Given the description of an element on the screen output the (x, y) to click on. 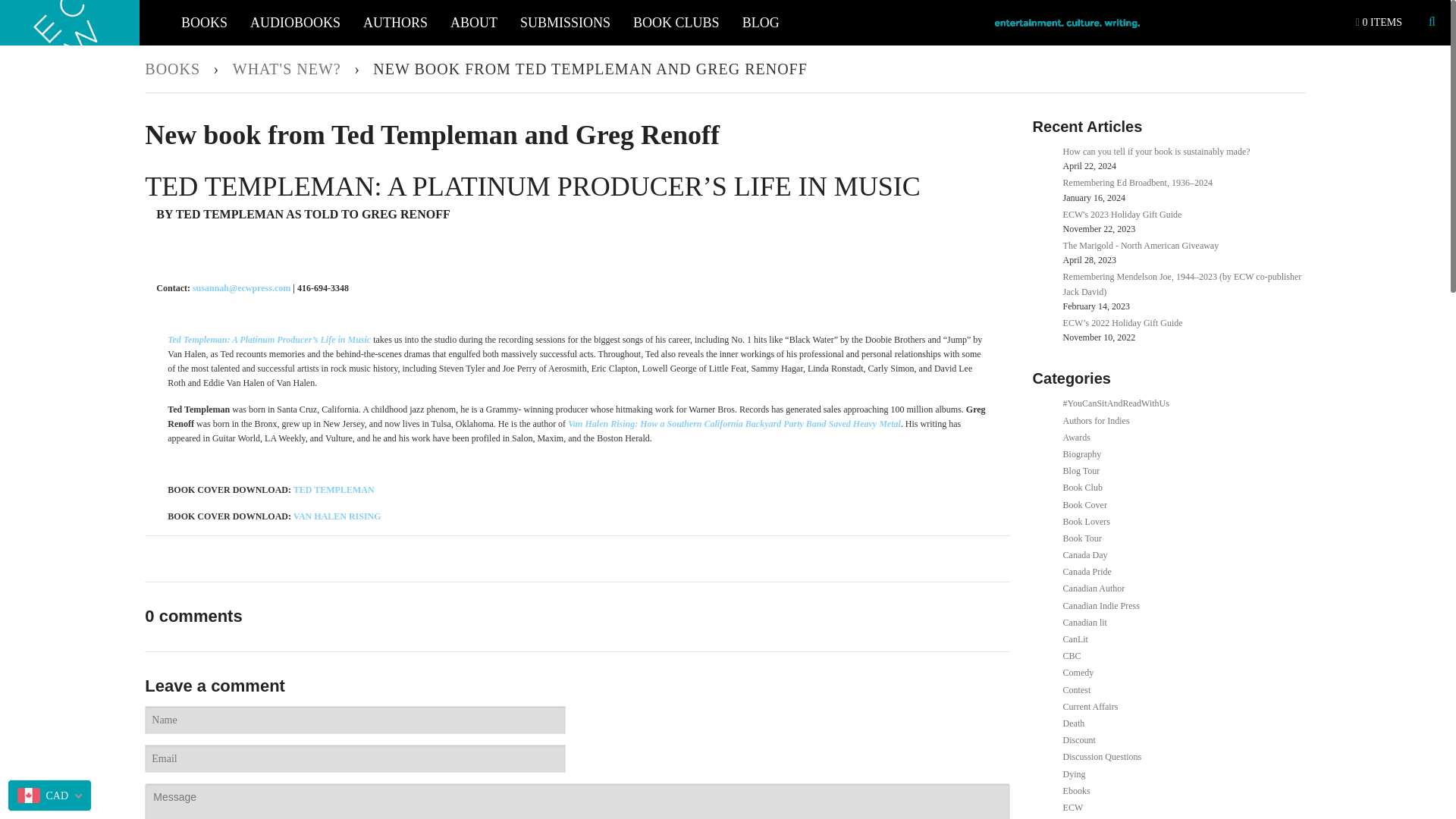
Canada Pride (1087, 571)
Show articles tagged Canada Day (1085, 554)
The Marigold - North American Giveaway (1141, 245)
Book Cover (1084, 504)
Show articles tagged Blog Tour (1081, 470)
0 ITEMS (1378, 22)
BOOKS (174, 68)
Show articles tagged Book Lovers (1085, 521)
BOOKS (204, 22)
VAN HALEN RISING (337, 516)
Book Lovers (1085, 521)
AUTHORS (395, 22)
Blog Tour (1081, 470)
Authors for Indies (1095, 420)
